Given the description of an element on the screen output the (x, y) to click on. 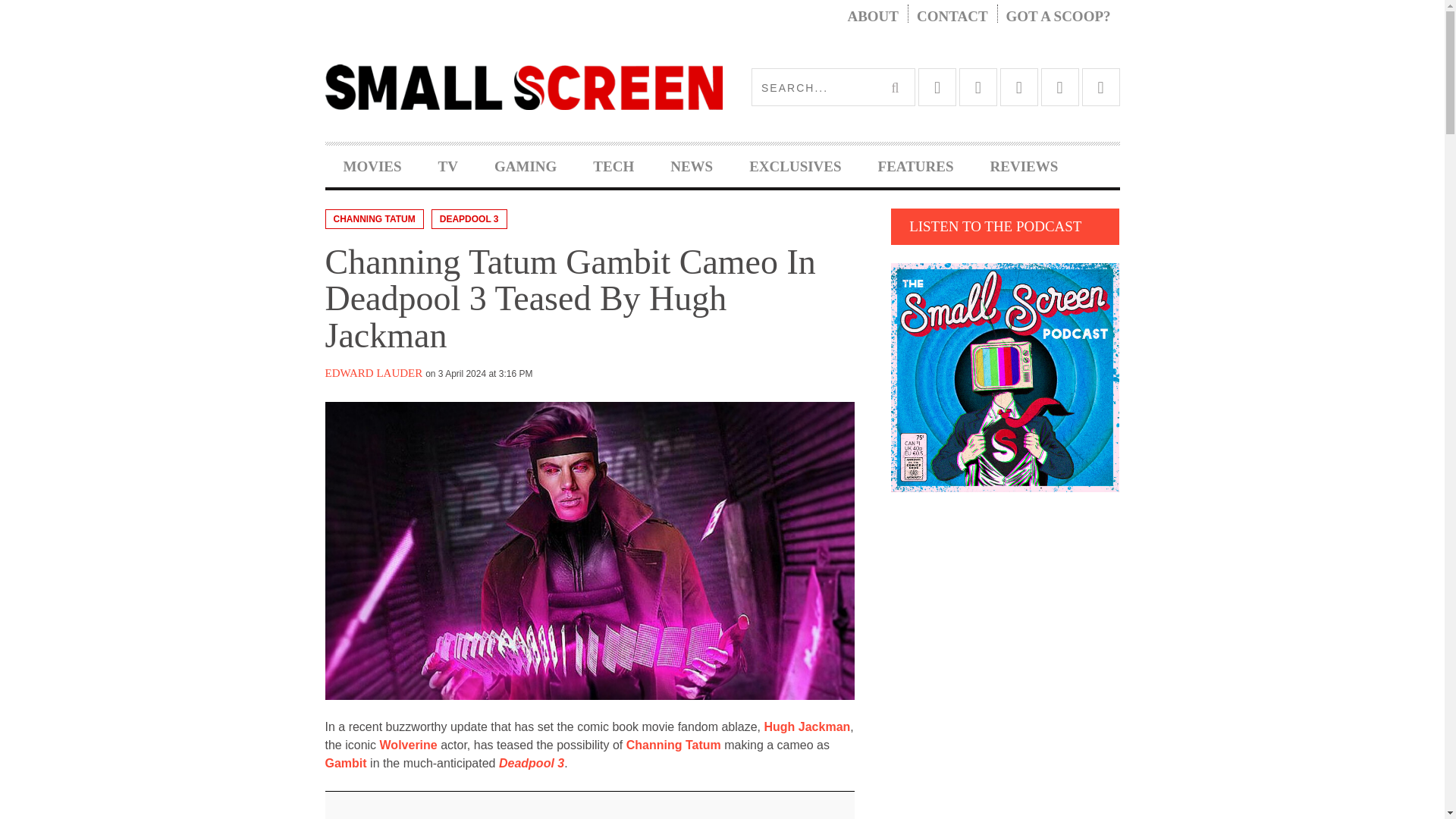
Listen To The Podcast (1005, 376)
Small Screen (523, 86)
CONTACT (952, 16)
GOT A SCOOP? (1058, 16)
ABOUT (872, 16)
Posts by Edward Lauder (373, 372)
